Given the description of an element on the screen output the (x, y) to click on. 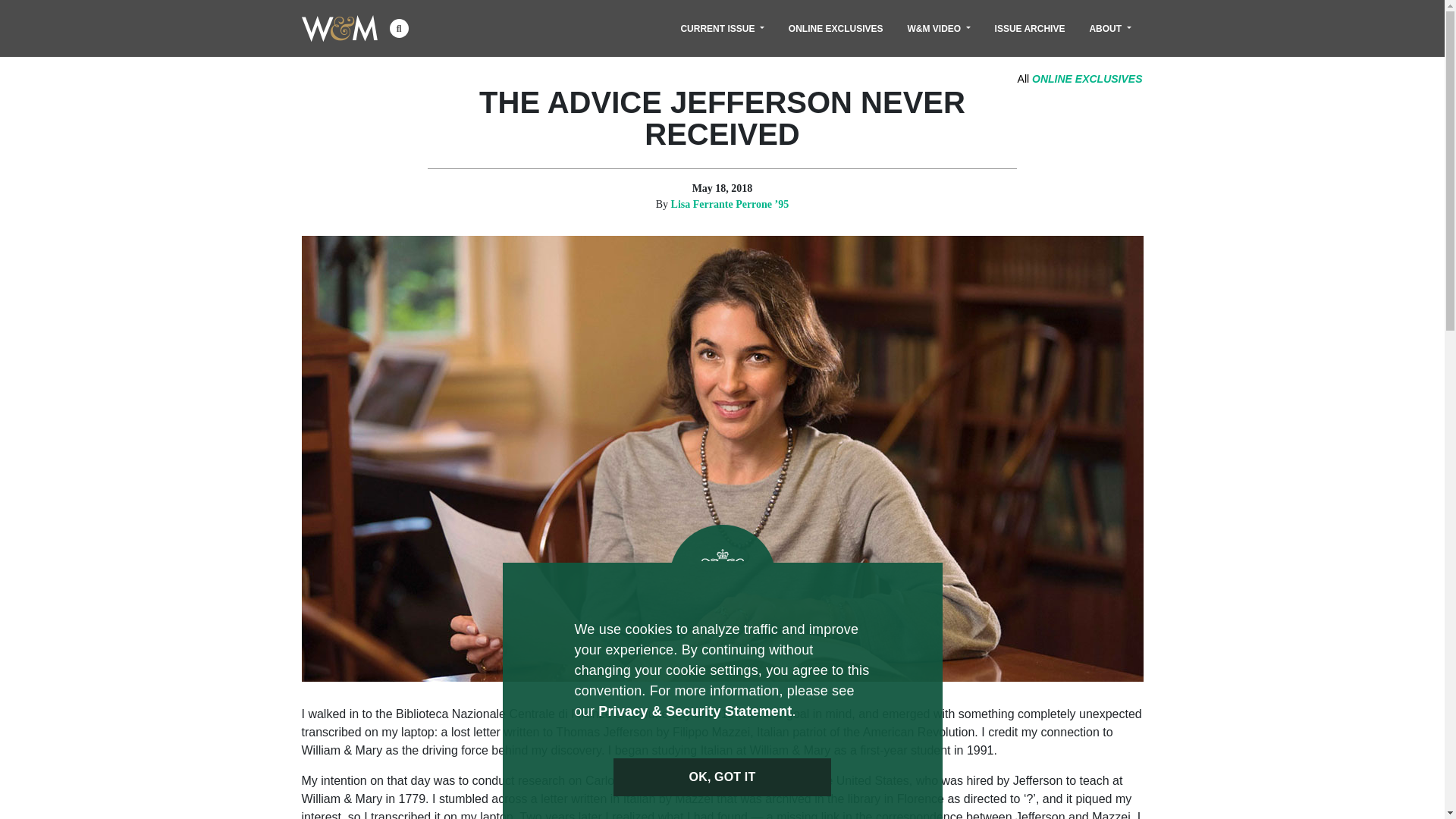
CURRENT ISSUE (722, 28)
All ONLINE EXCLUSIVES (1079, 78)
ISSUE ARCHIVE (1029, 28)
ONLINE EXCLUSIVES (835, 28)
ABOUT (1109, 28)
